Given the description of an element on the screen output the (x, y) to click on. 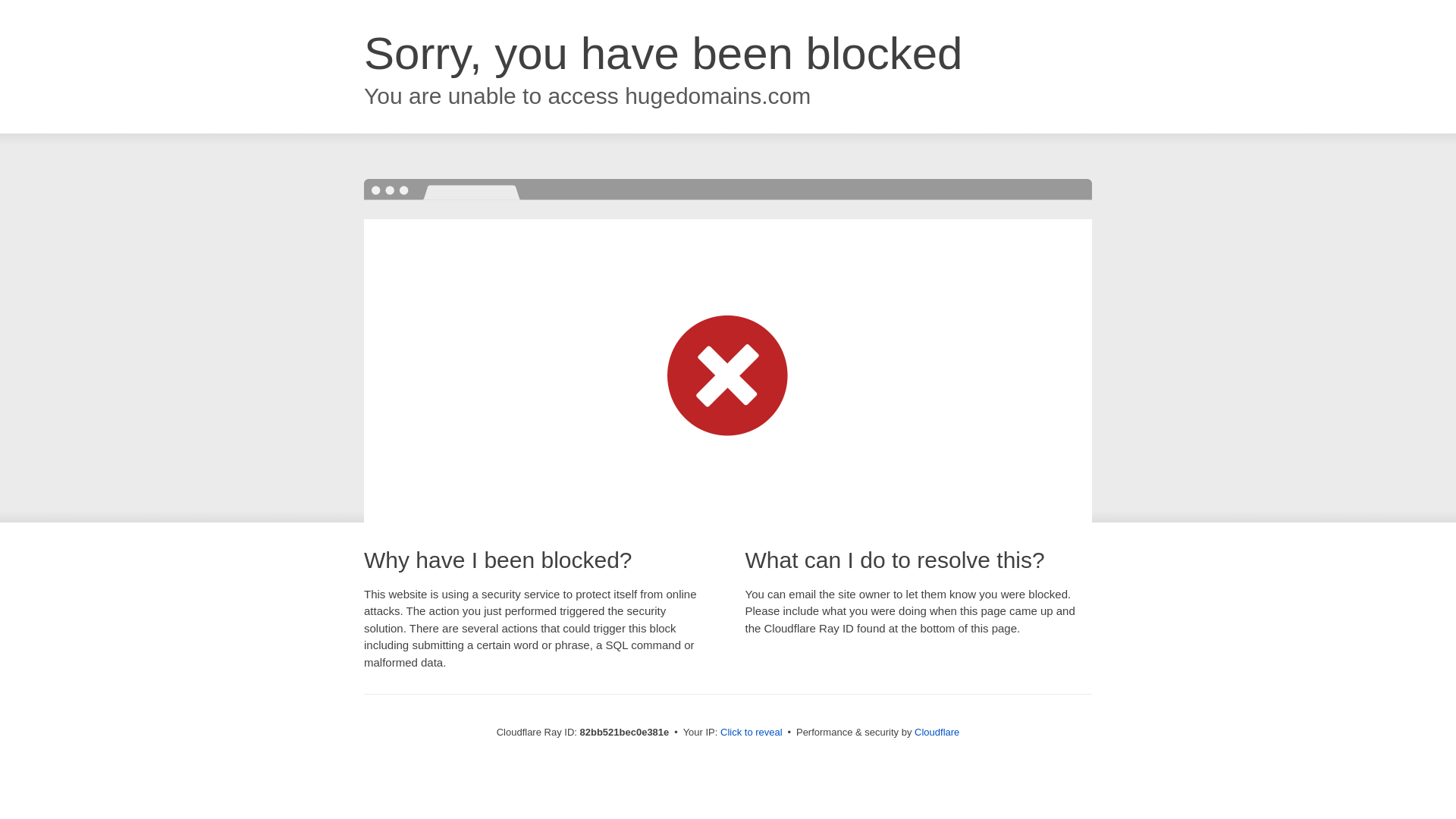
Cloudflare Element type: text (936, 731)
Click to reveal Element type: text (751, 732)
